Given the description of an element on the screen output the (x, y) to click on. 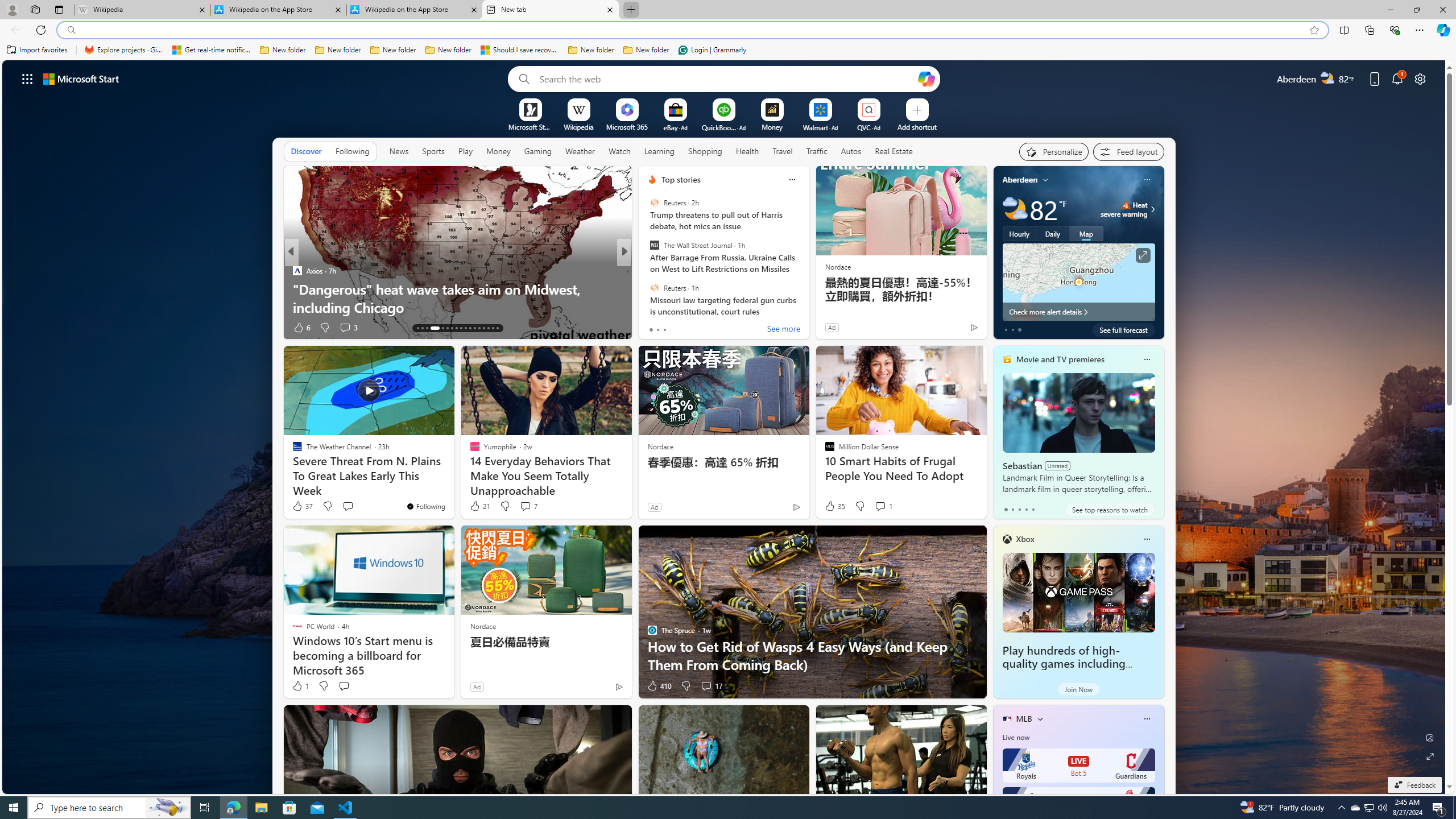
See top reasons to watch (1109, 509)
119 Like (654, 327)
1 Like (299, 685)
'Tornado Alley' Has Shifted East Away From The Plains (807, 298)
Learn Singing & Therapy at the same time (807, 307)
AutomationID: tab-27 (488, 328)
AutomationID: tab-24 (474, 328)
AutomationID: tab-18 (446, 328)
AutomationID: tab-26 (483, 328)
